Given the description of an element on the screen output the (x, y) to click on. 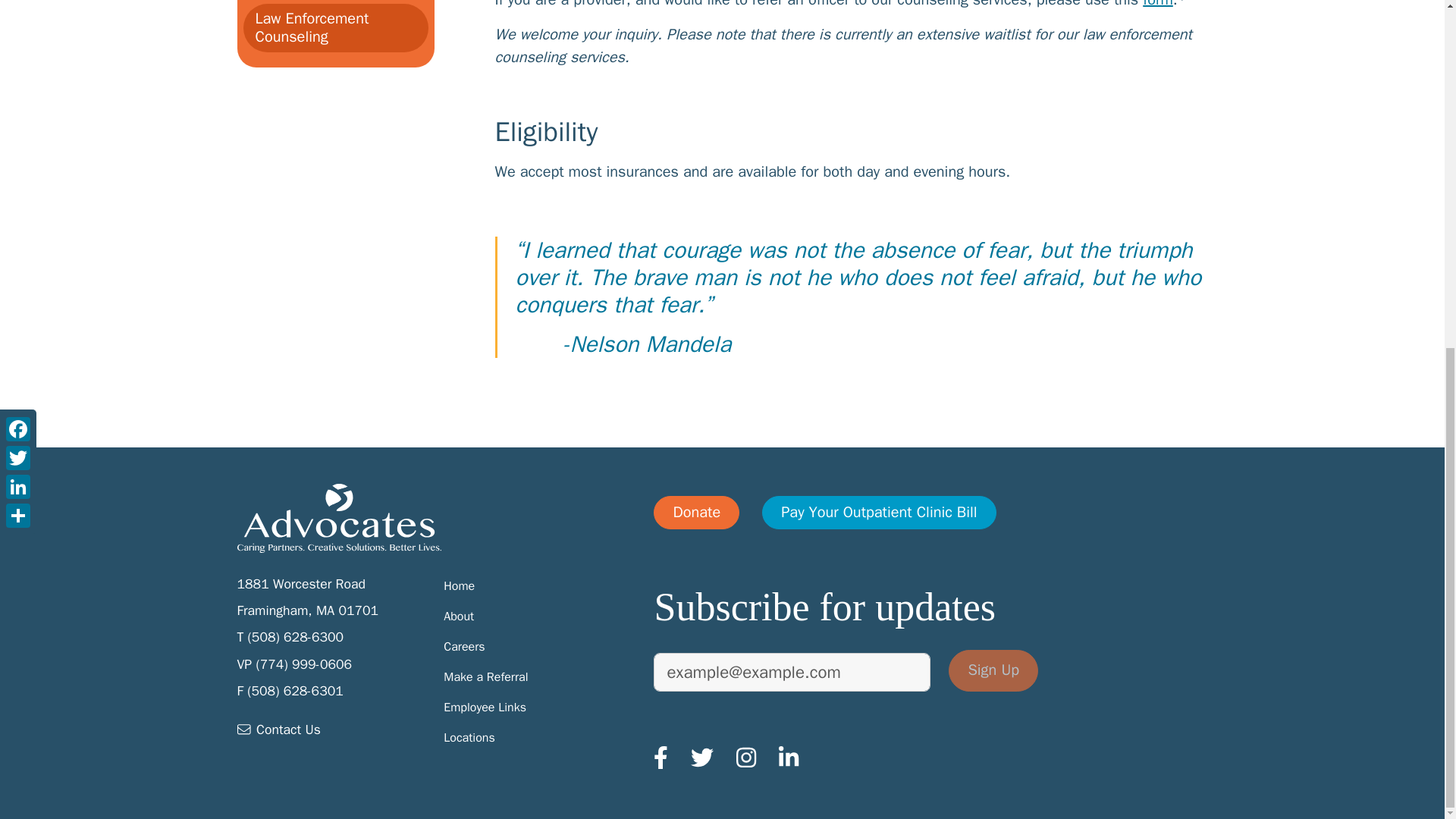
Support Advocates (696, 512)
